Given the description of an element on the screen output the (x, y) to click on. 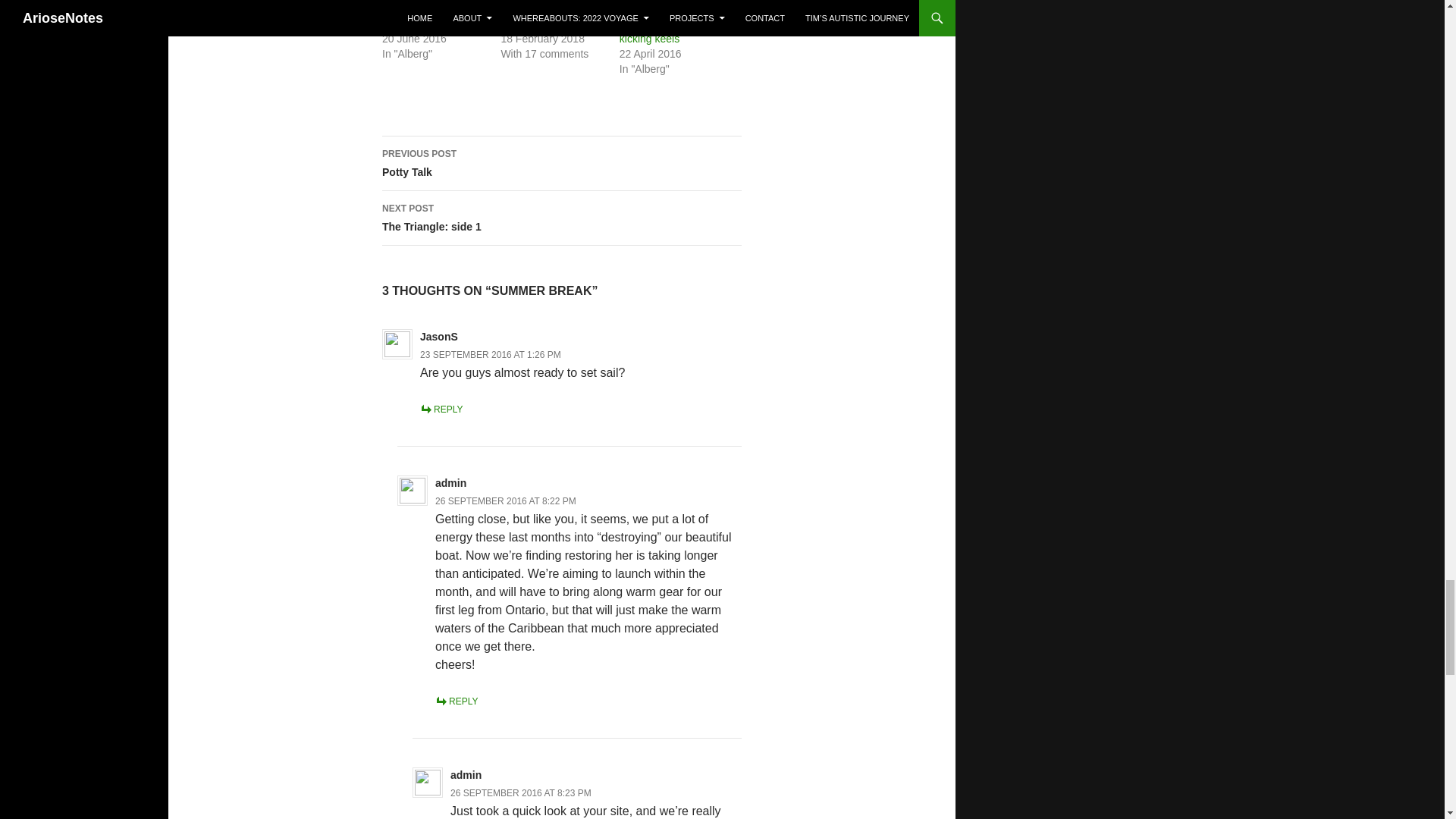
Mid-Winter Musings (547, 23)
Mid-Winter Musings (547, 23)
Potty Talk (404, 23)
Potty Talk (404, 23)
Aquiring Ariose part 2:  kicking keels (671, 31)
